Given the description of an element on the screen output the (x, y) to click on. 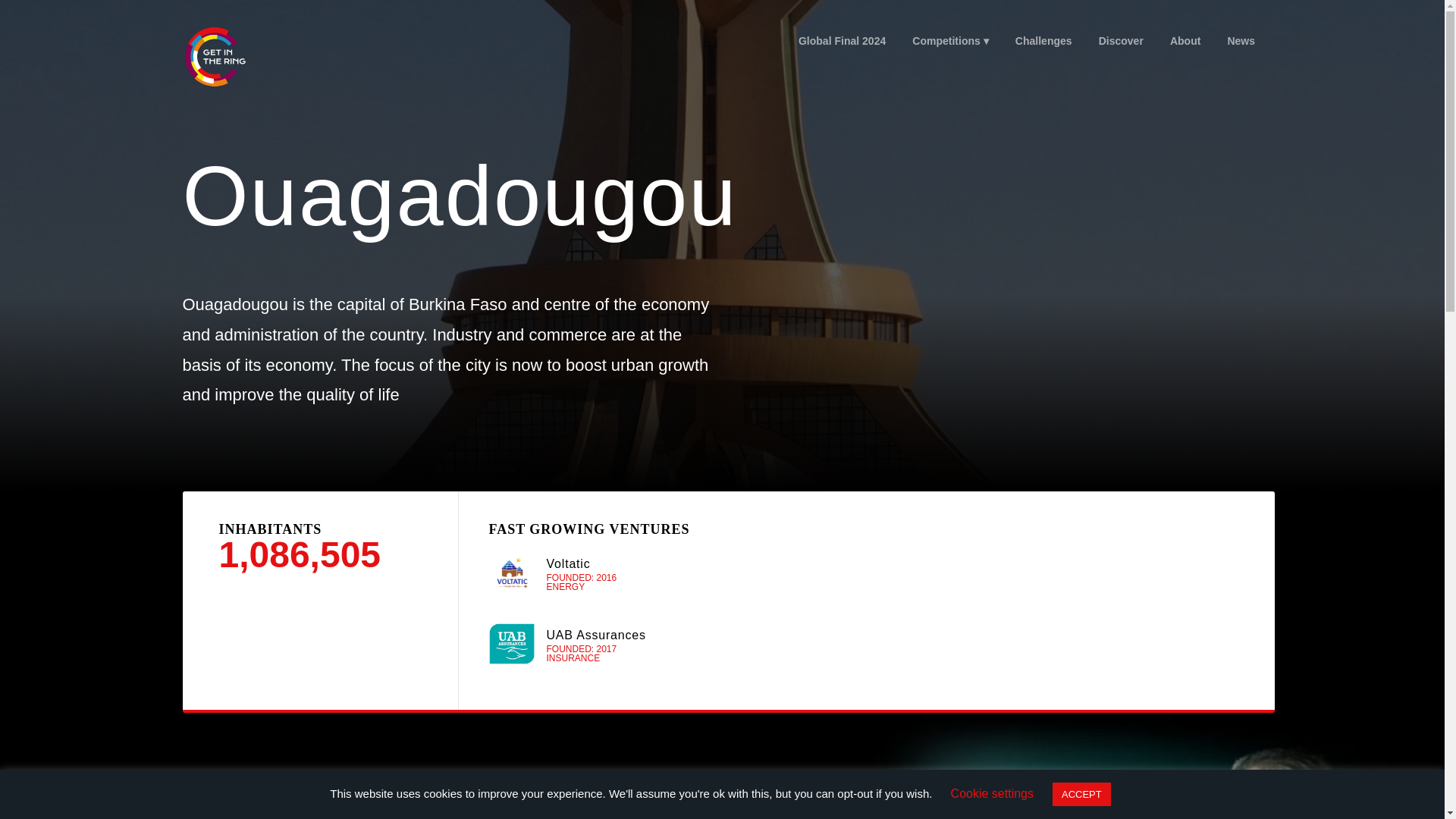
Get in the Ring (232, 56)
Get in the Ring (213, 56)
Discover (1120, 41)
Challenges (1042, 41)
Global Final 2024 (841, 41)
Competitions (951, 41)
News (1241, 41)
About (1185, 41)
